Given the description of an element on the screen output the (x, y) to click on. 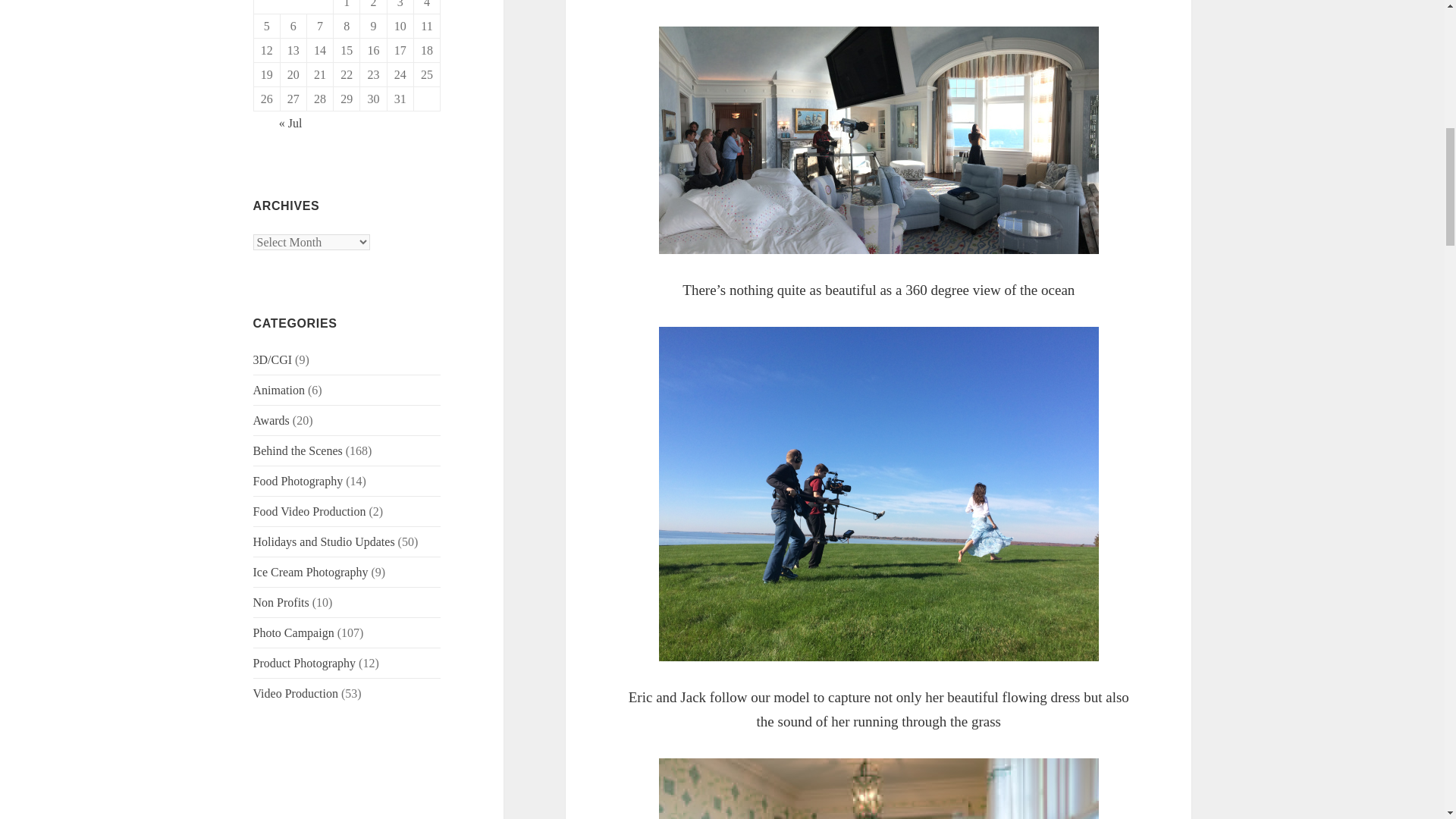
Photo Campaign (293, 632)
Animation (278, 390)
Video Production (295, 693)
Non Profits (280, 602)
Awards (271, 420)
Food Photography (298, 481)
Behind the Scenes (297, 450)
Ice Cream Photography (310, 571)
Holidays and Studio Updates (323, 541)
Food Video Production (309, 511)
Product Photography (304, 662)
